Given the description of an element on the screen output the (x, y) to click on. 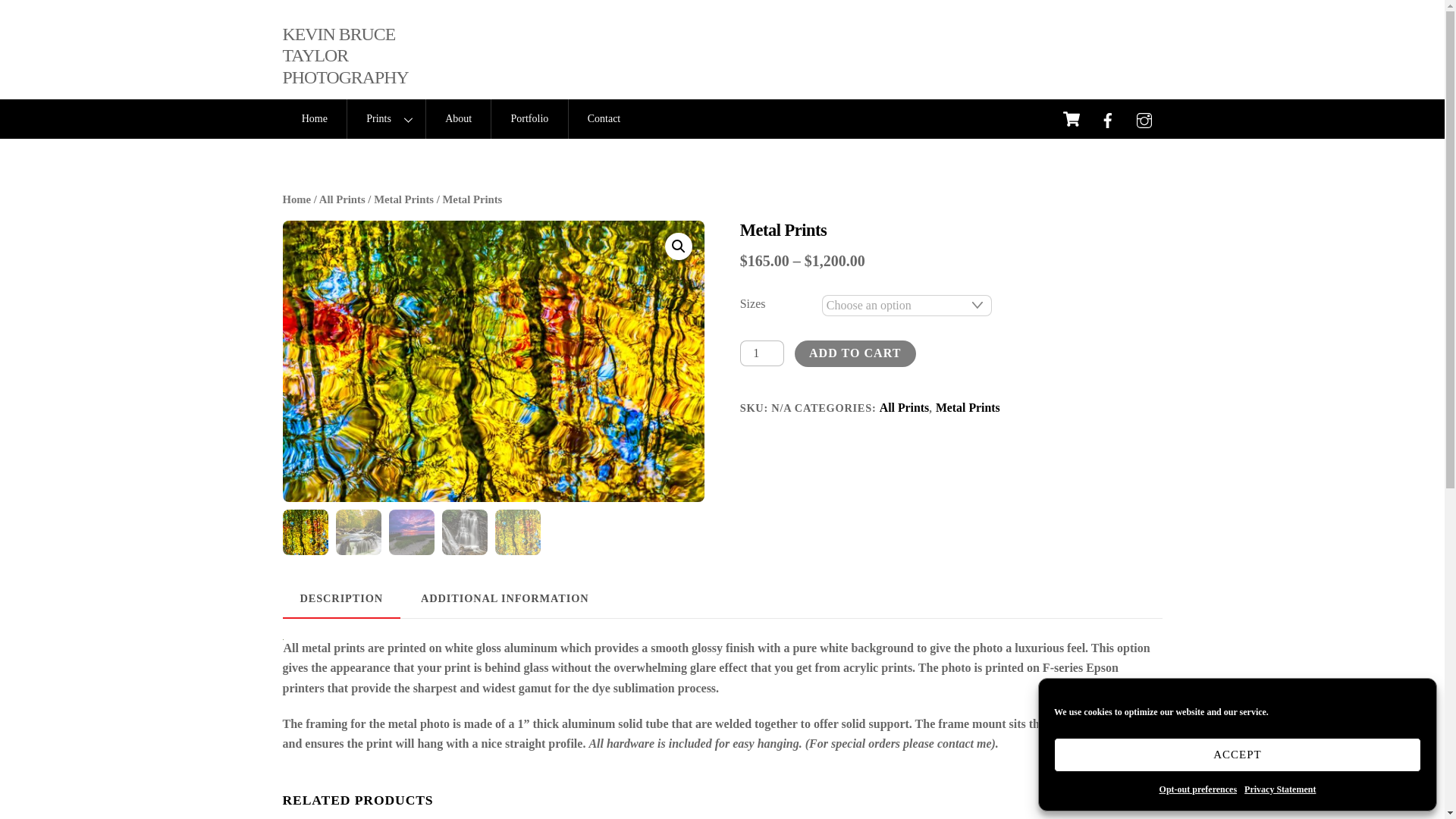
Metal Prints (403, 199)
All Prints (341, 199)
Portfolio (528, 118)
ACCEPT (1237, 754)
Opt-out preferences (1197, 789)
Prints (385, 118)
1 (761, 353)
Reflections of Fall (493, 361)
KEVIN BRUCE TAYLOR PHOTOGRAPHY (344, 55)
Home (296, 199)
